Given the description of an element on the screen output the (x, y) to click on. 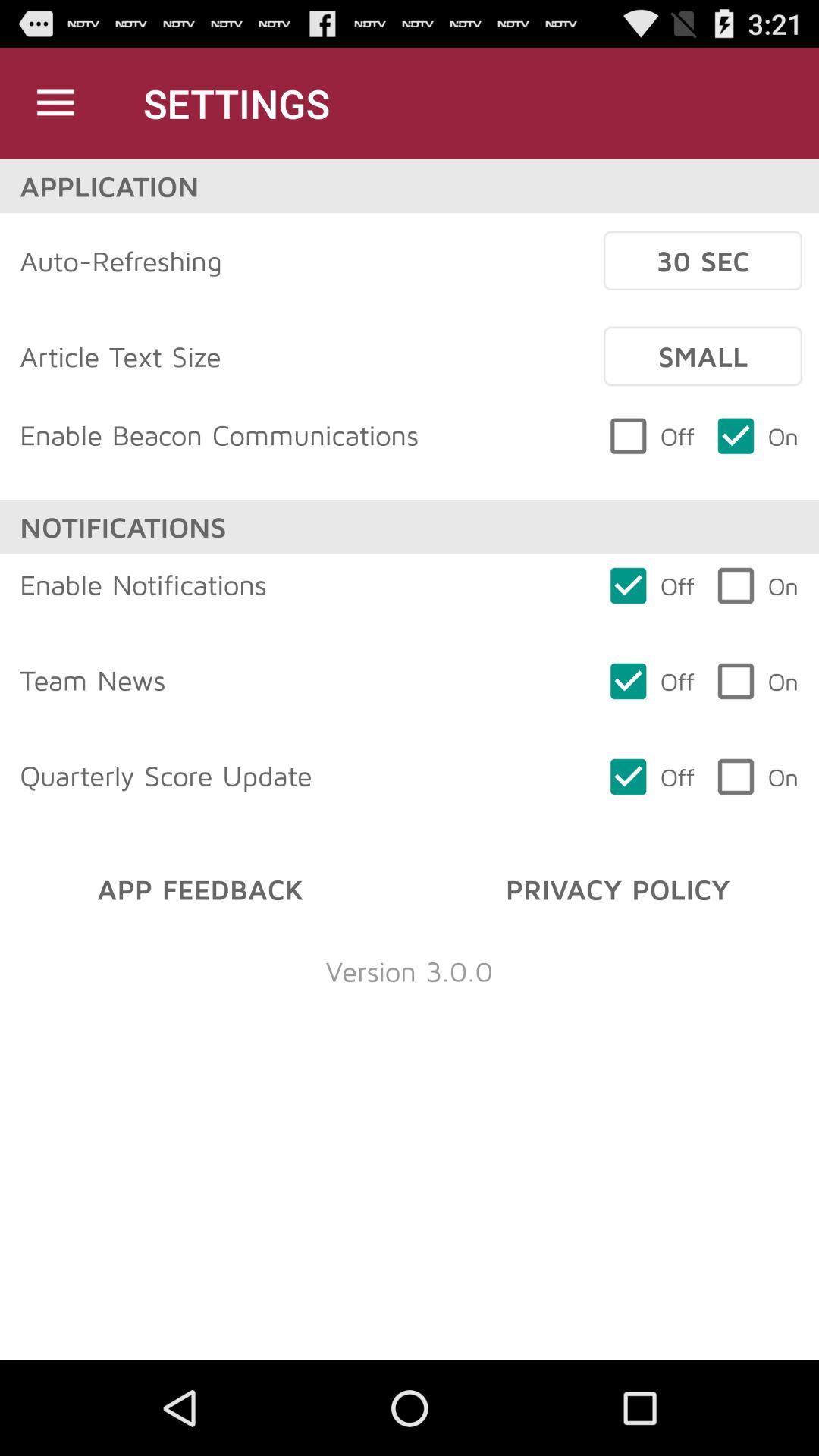
open app to the left of settings (55, 103)
